Given the description of an element on the screen output the (x, y) to click on. 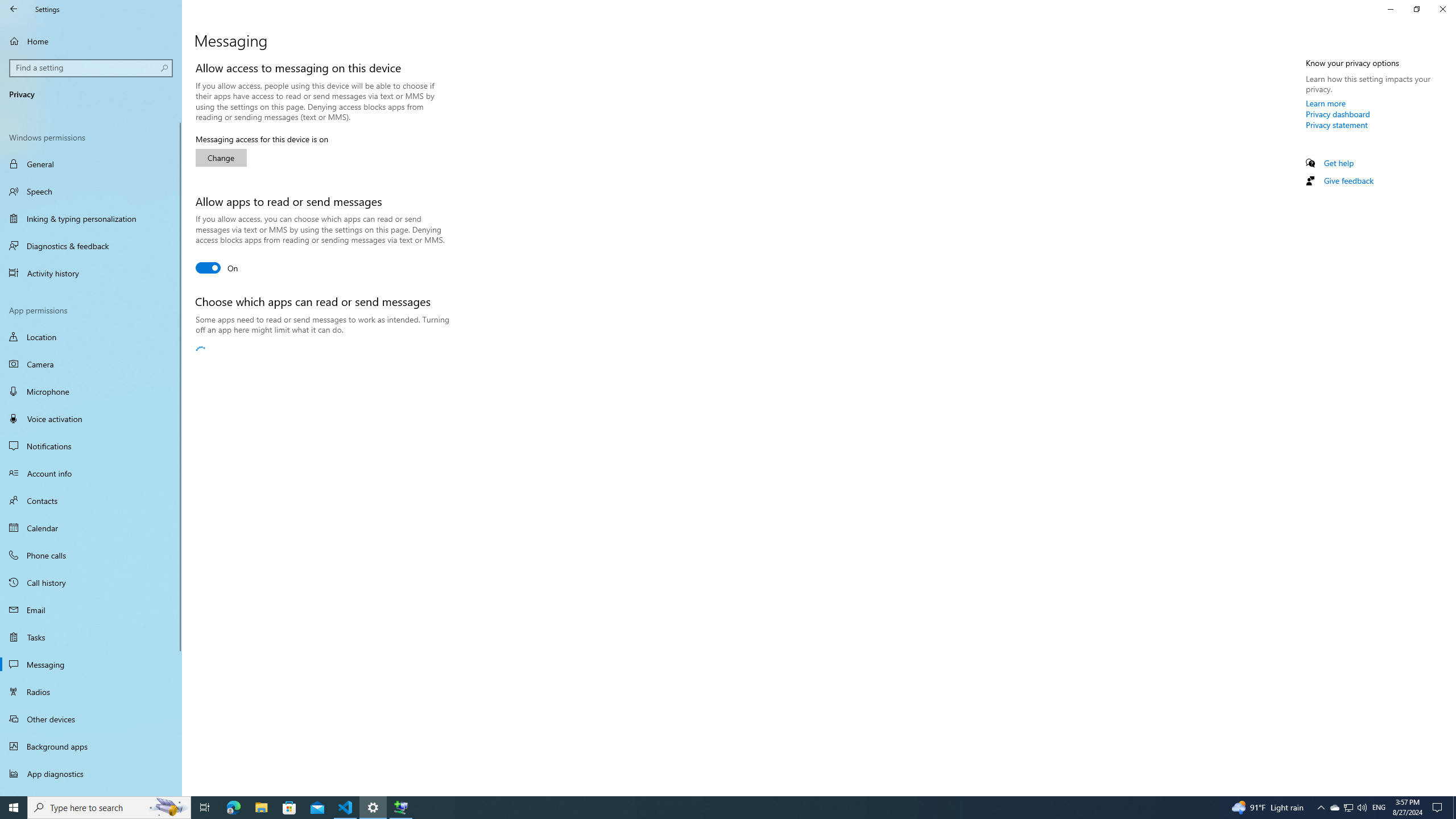
Microphone (91, 390)
Change (221, 157)
Learn more (1326, 102)
Other devices (91, 718)
Email (91, 609)
App diagnostics (91, 773)
Inking & typing personalization (91, 217)
